Given the description of an element on the screen output the (x, y) to click on. 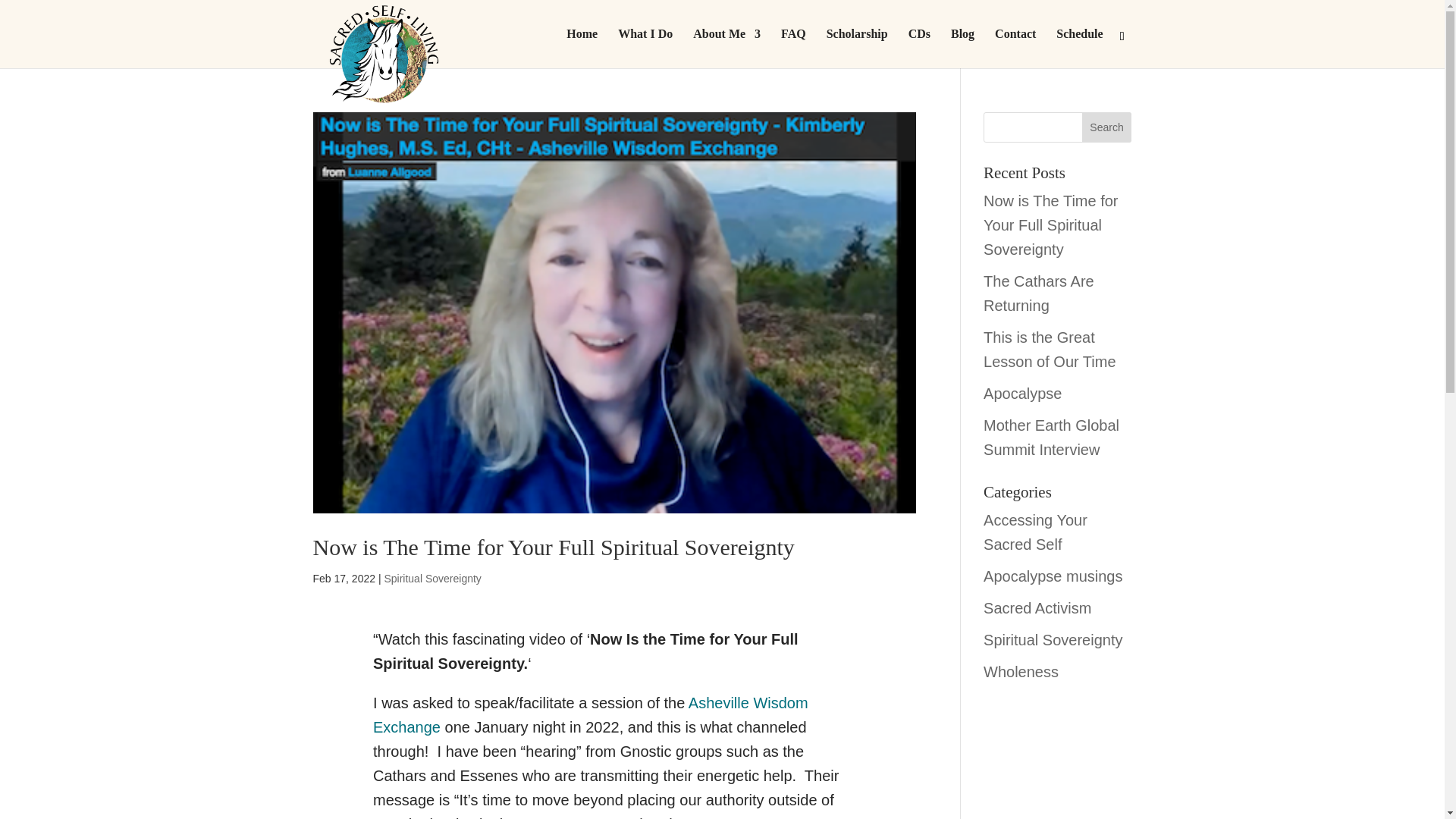
Scholarship (857, 47)
Now is The Time for Your Full Spiritual Sovereignty (1051, 224)
Now is The Time for Your Full Spiritual Sovereignty (553, 546)
Spiritual Sovereignty (432, 578)
Apocalypse (1022, 393)
About Me (726, 47)
Schedule (1079, 47)
Contact (1014, 47)
Accessing Your Sacred Self (1035, 531)
Apocalypse musings (1053, 576)
Mother Earth Global Summit Interview (1051, 436)
Search (1106, 127)
Asheville Wisdom Exchange (590, 714)
What I Do (644, 47)
This is the Great Lesson of Our Time (1050, 349)
